Given the description of an element on the screen output the (x, y) to click on. 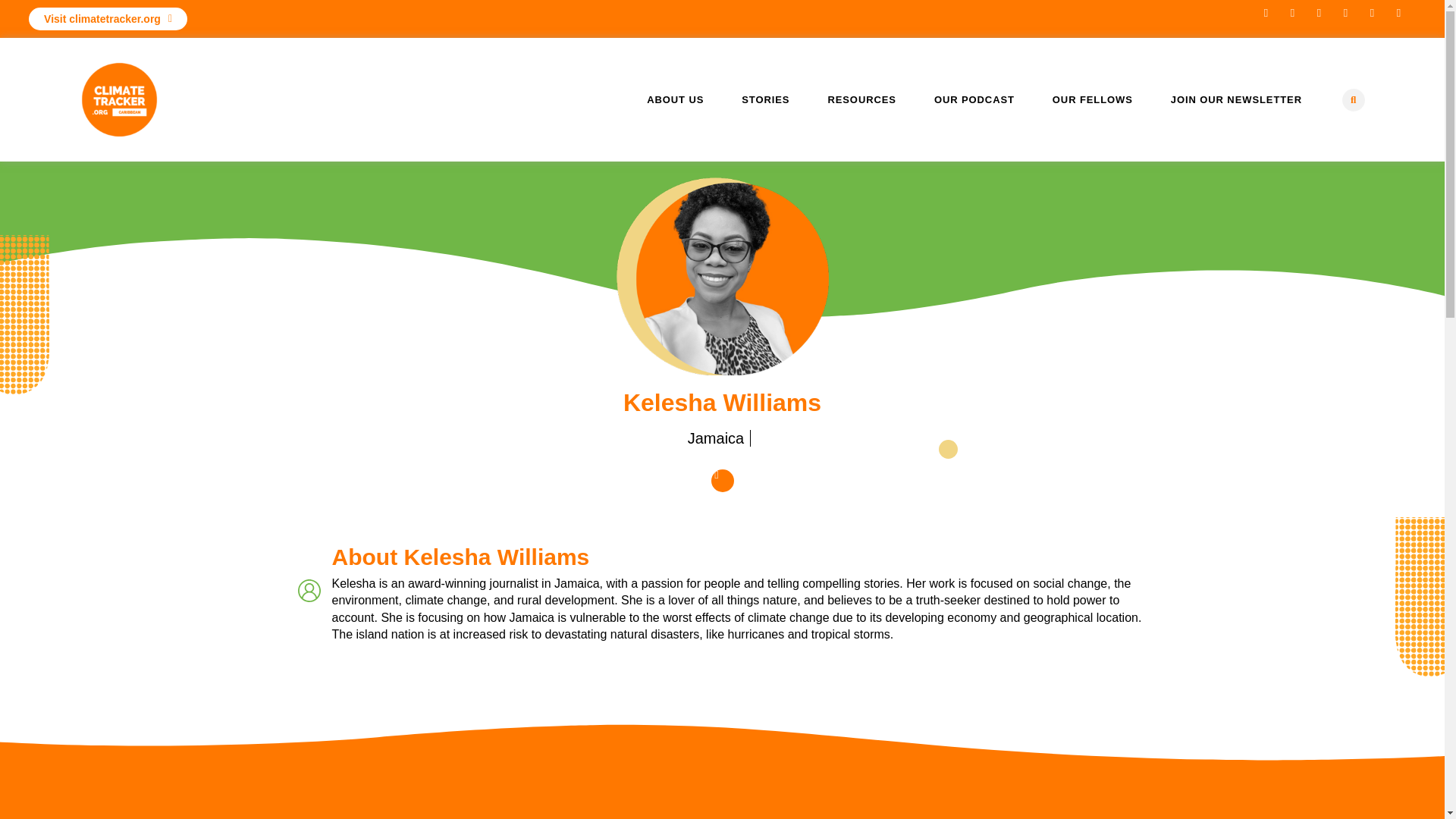
OUR FELLOWS (1092, 99)
STORIES (765, 99)
ABOUT US (675, 99)
Visit climatetracker.org (108, 18)
RESOURCES (861, 99)
JOIN OUR NEWSLETTER (1236, 99)
OUR PODCAST (973, 99)
